Given the description of an element on the screen output the (x, y) to click on. 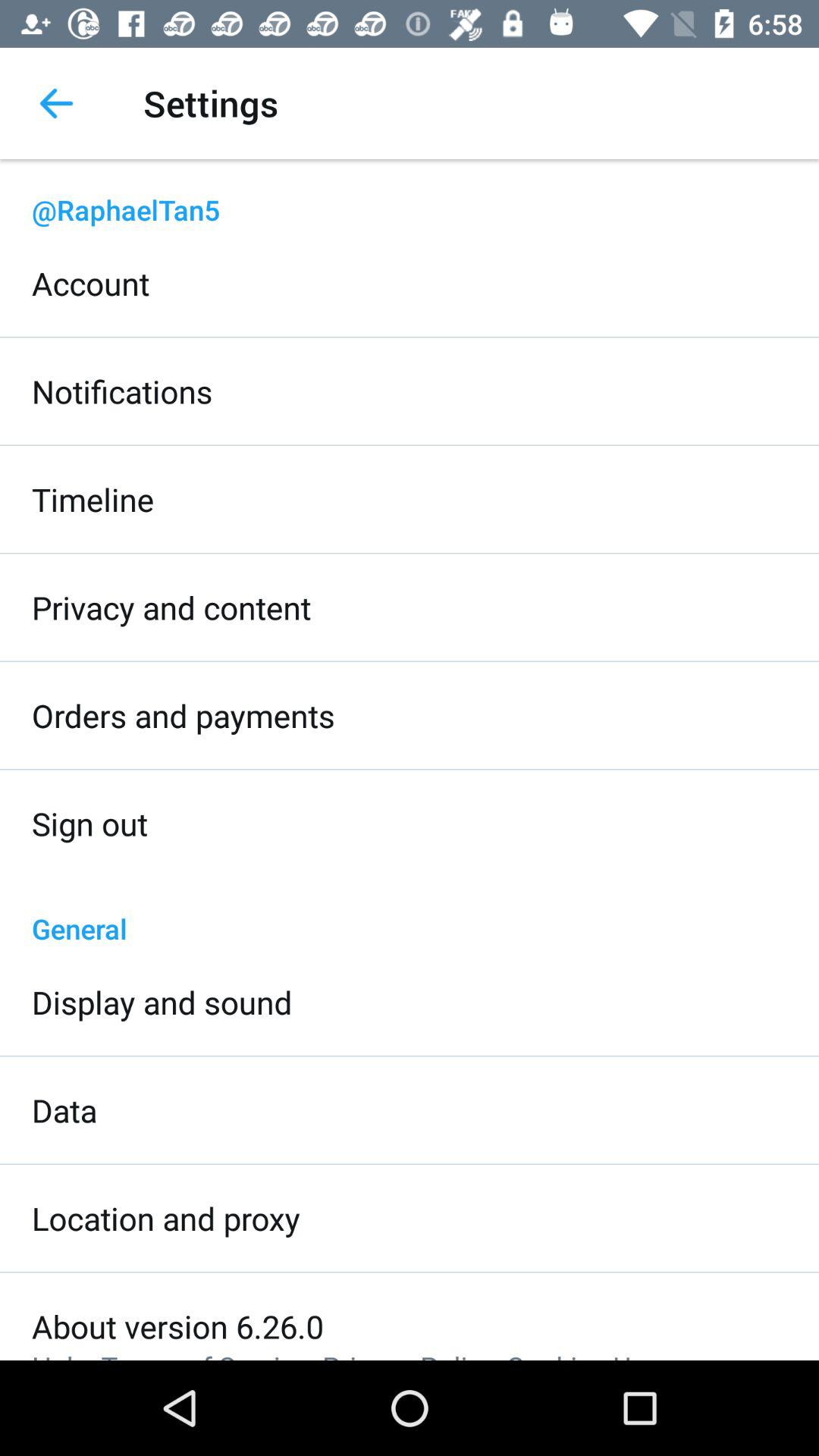
choose sign out item (89, 823)
